Given the description of an element on the screen output the (x, y) to click on. 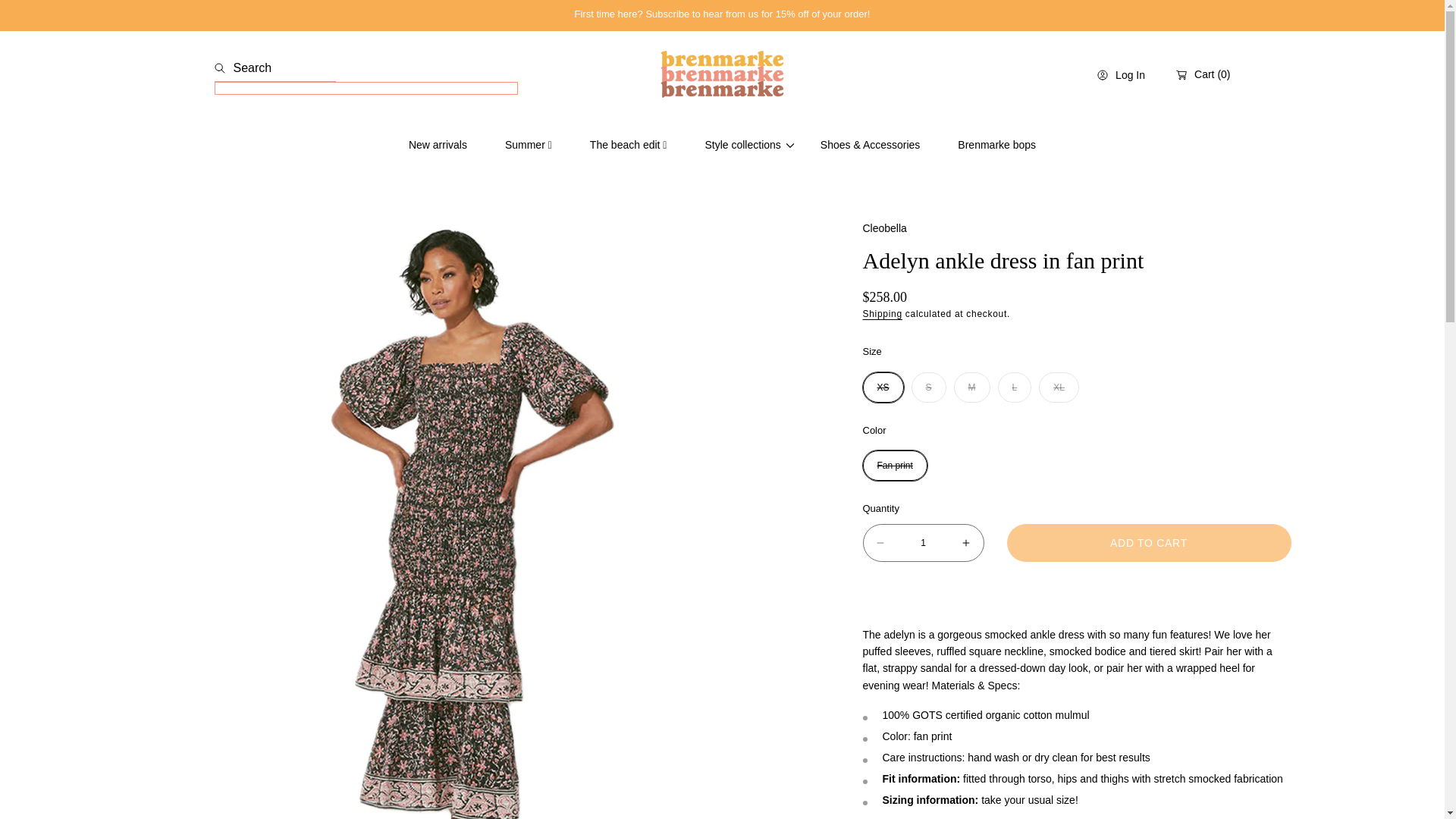
Brenmarke bops (996, 144)
Log In (1120, 74)
New arrivals (438, 144)
SKIP TO CONTENT (74, 18)
